Given the description of an element on the screen output the (x, y) to click on. 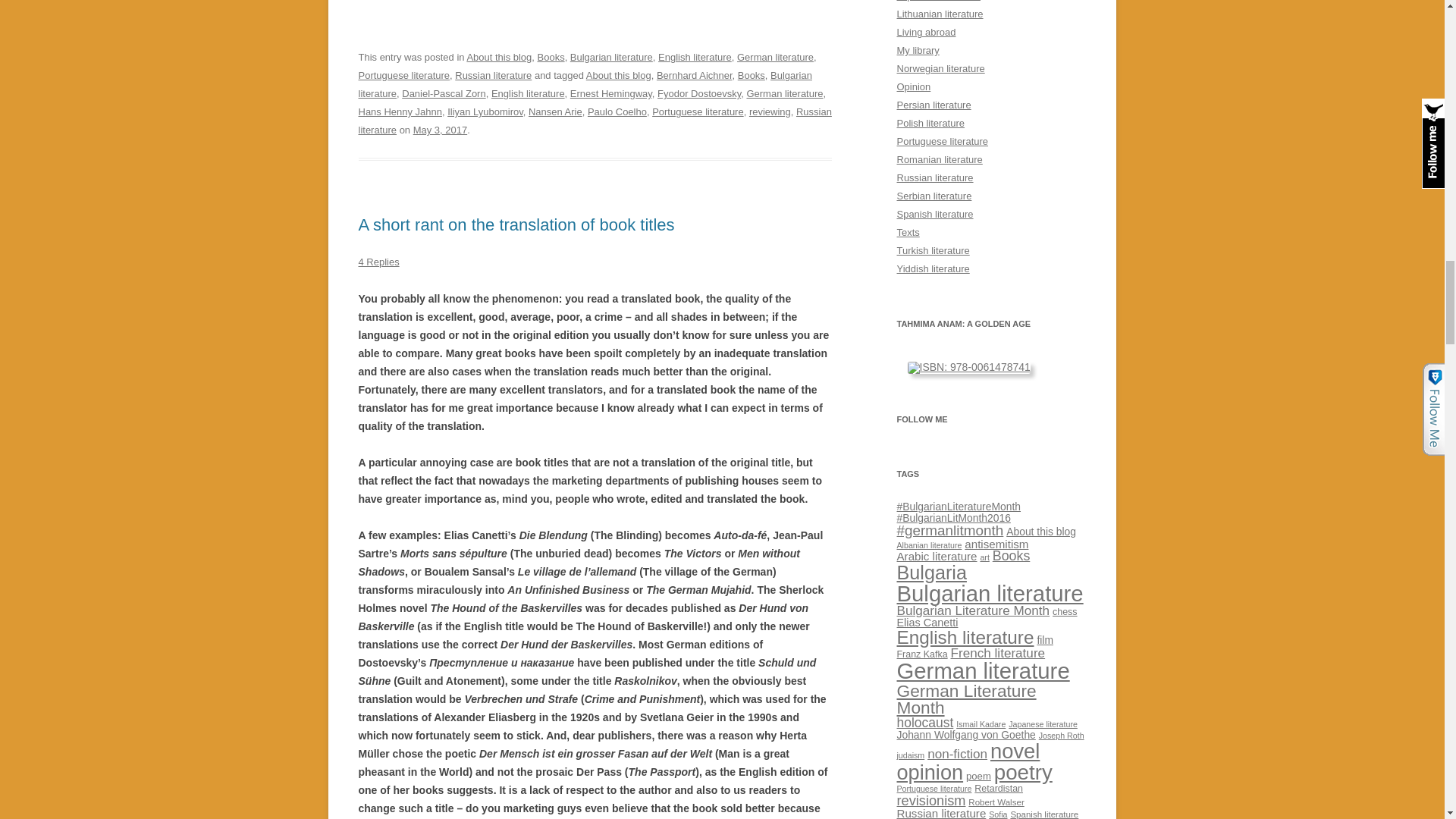
English literature (695, 57)
Portuguese literature (403, 75)
Bulgarian literature (611, 57)
Daniel-Pascal Zorn (442, 93)
Ernest Hemingway (611, 93)
Iliyan Lyubomirov (484, 111)
Hans Henny Jahnn (399, 111)
ISBN: 978-0061478741 (968, 367)
5:06 pm (440, 129)
Russian literature (594, 120)
German literature (783, 93)
German literature (774, 57)
About this blog (618, 75)
Bernhard Aichner (694, 75)
About this blog (498, 57)
